Given the description of an element on the screen output the (x, y) to click on. 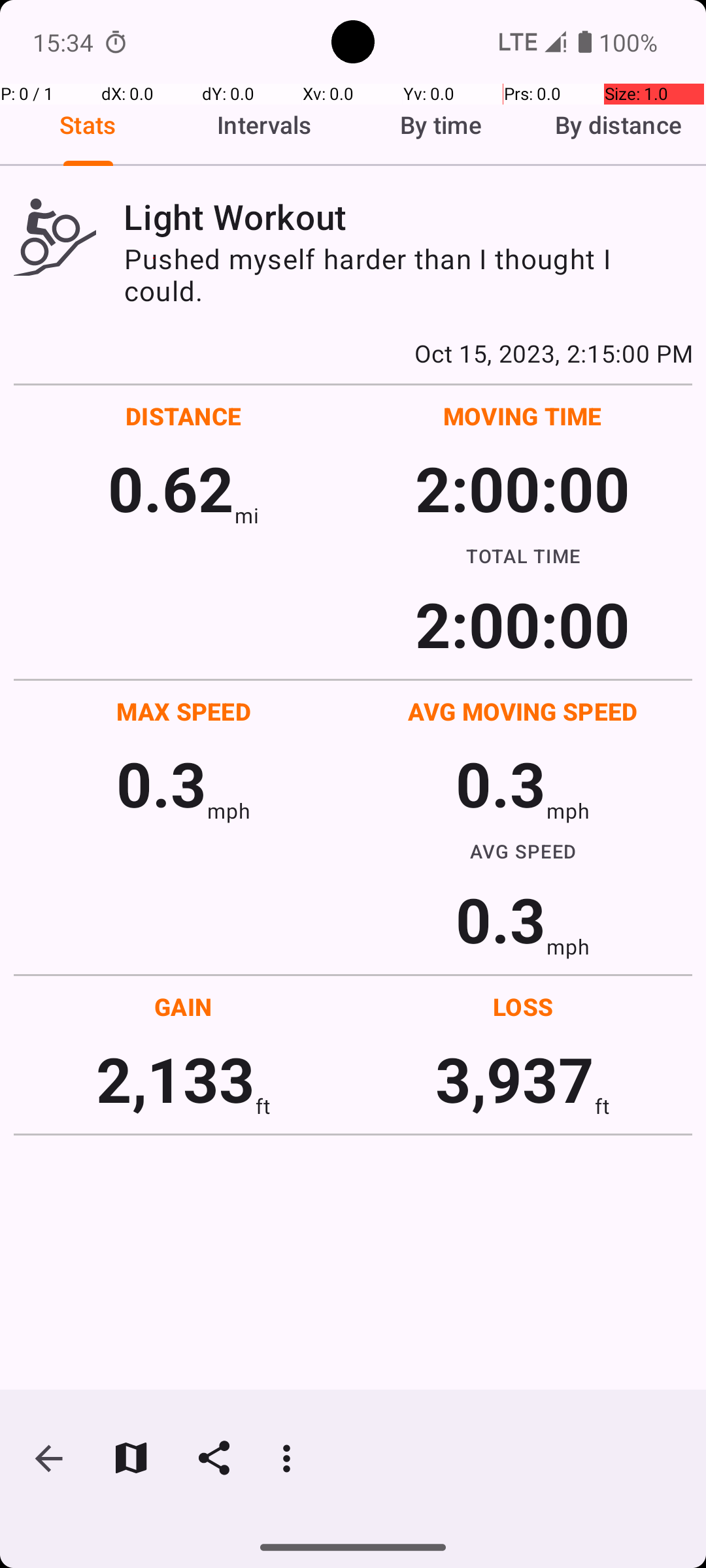
Light Workout Element type: android.widget.TextView (407, 216)
Pushed myself harder than I thought I could. Element type: android.widget.TextView (407, 274)
Oct 15, 2023, 2:15:00 PM Element type: android.widget.TextView (352, 352)
0.62 Element type: android.widget.TextView (170, 487)
2:00:00 Element type: android.widget.TextView (522, 487)
0.3 Element type: android.widget.TextView (161, 782)
2,133 Element type: android.widget.TextView (175, 1077)
3,937 Element type: android.widget.TextView (514, 1077)
